Given the description of an element on the screen output the (x, y) to click on. 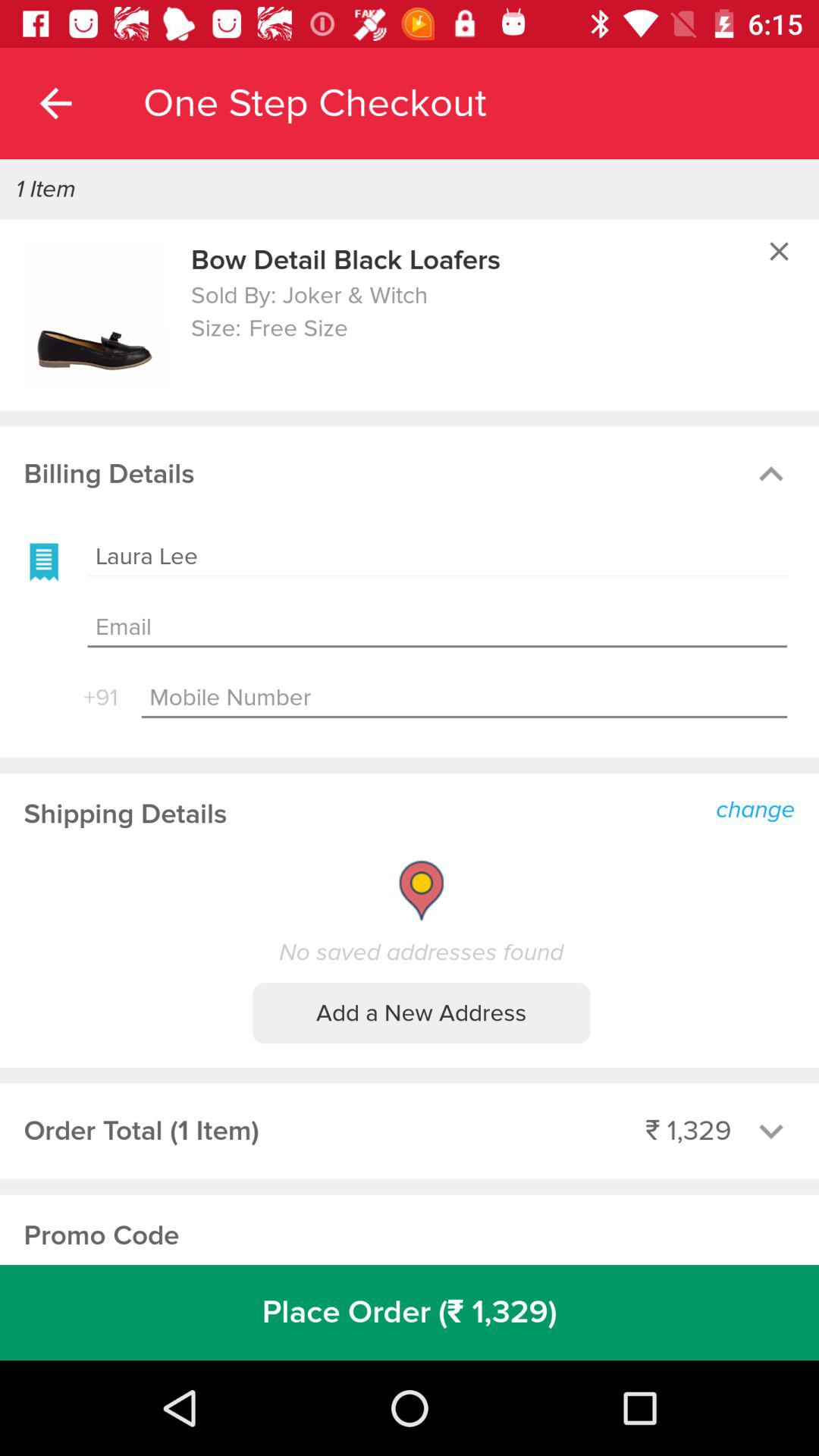
open icon below 1 item (95, 314)
